Given the description of an element on the screen output the (x, y) to click on. 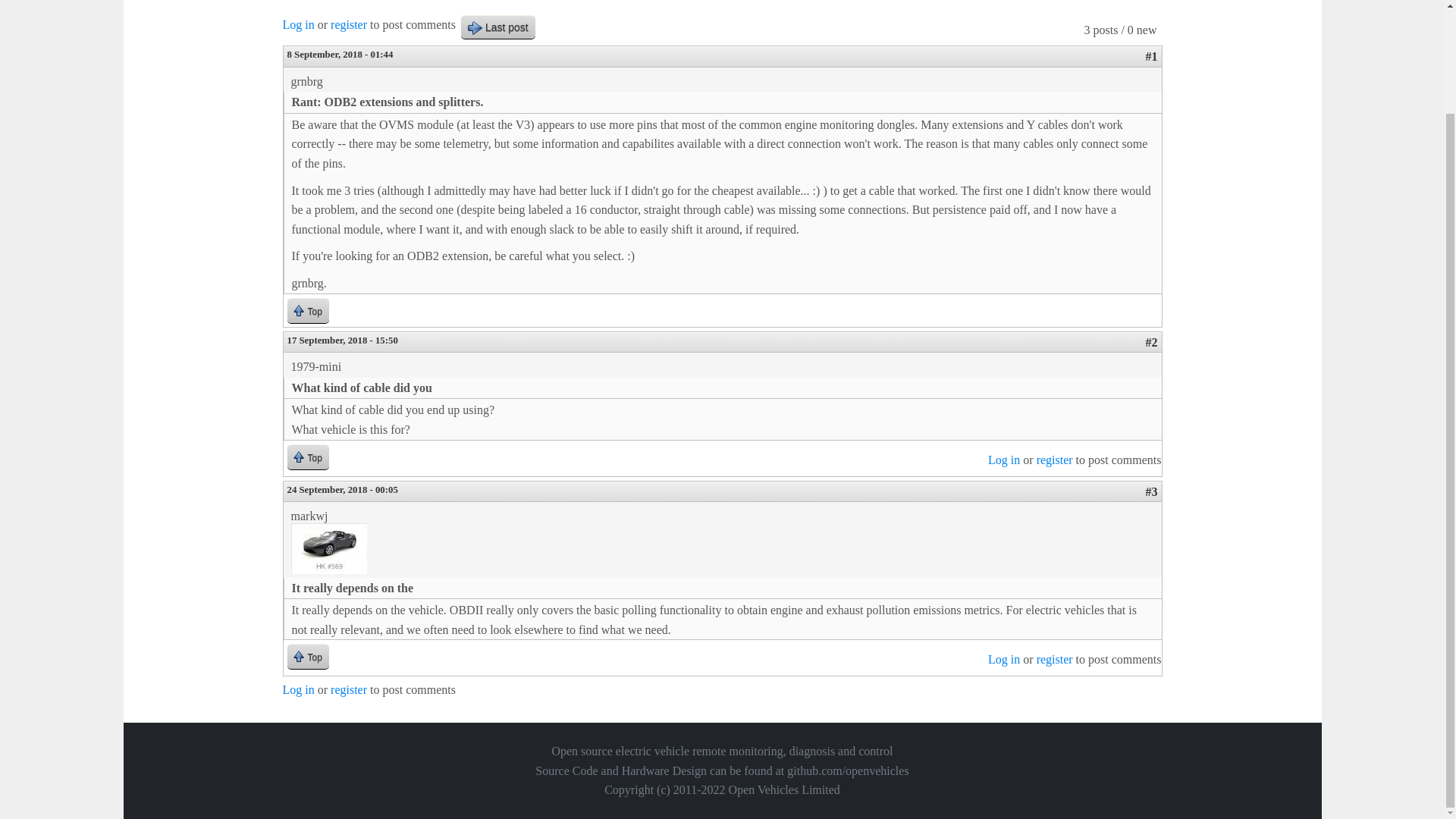
Jump to top of page (307, 310)
markwj's picture (328, 548)
Jump to top of page (307, 656)
Jump to top of page (307, 456)
Log in (298, 689)
Log in (298, 24)
register (1054, 658)
Top (307, 656)
Top (307, 310)
register (348, 689)
Log in (1004, 658)
Top (307, 456)
register (1054, 459)
register (348, 24)
Log in (1004, 459)
